Given the description of an element on the screen output the (x, y) to click on. 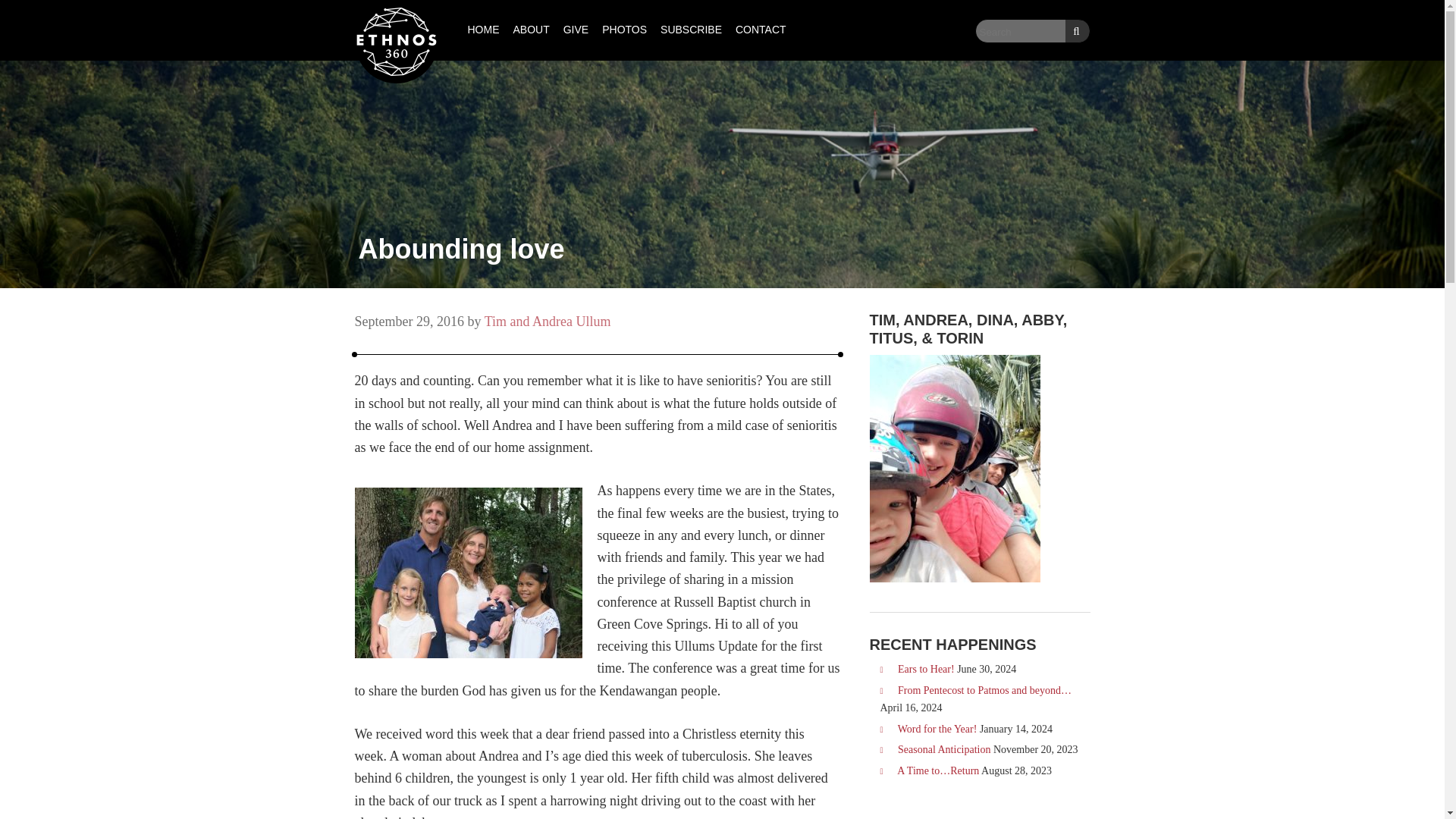
CONTACT (761, 30)
PHOTOS (624, 30)
SUBSCRIBE (691, 30)
Word for the Year! (937, 728)
Tim and Andrea Ullum (547, 321)
Ears to Hear! (926, 668)
Seasonal Anticipation (944, 749)
